Given the description of an element on the screen output the (x, y) to click on. 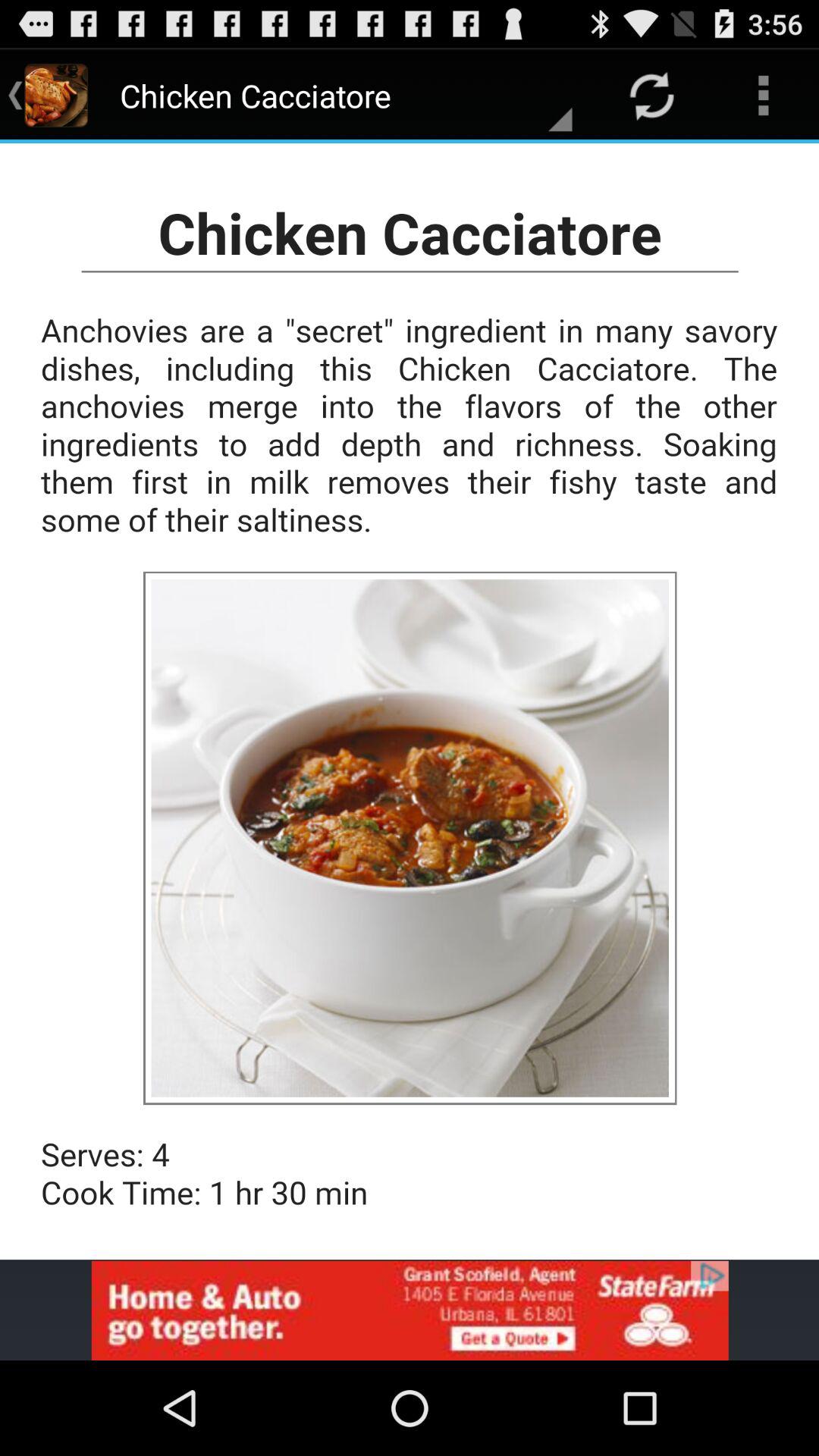
recipe (409, 701)
